Given the description of an element on the screen output the (x, y) to click on. 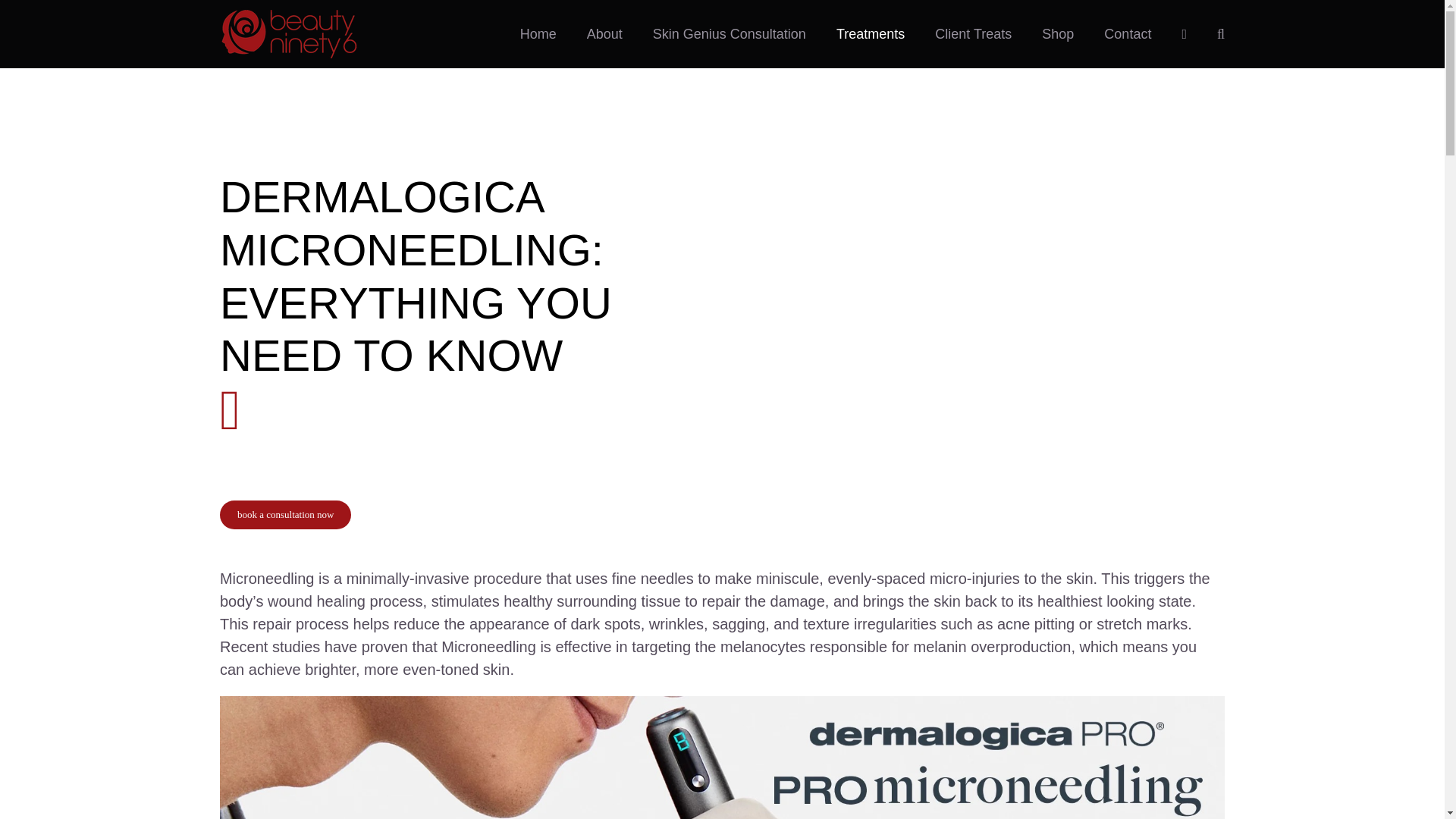
Client Treats (972, 33)
Treatments (869, 33)
Skin Genius Consultation (729, 33)
